Given the description of an element on the screen output the (x, y) to click on. 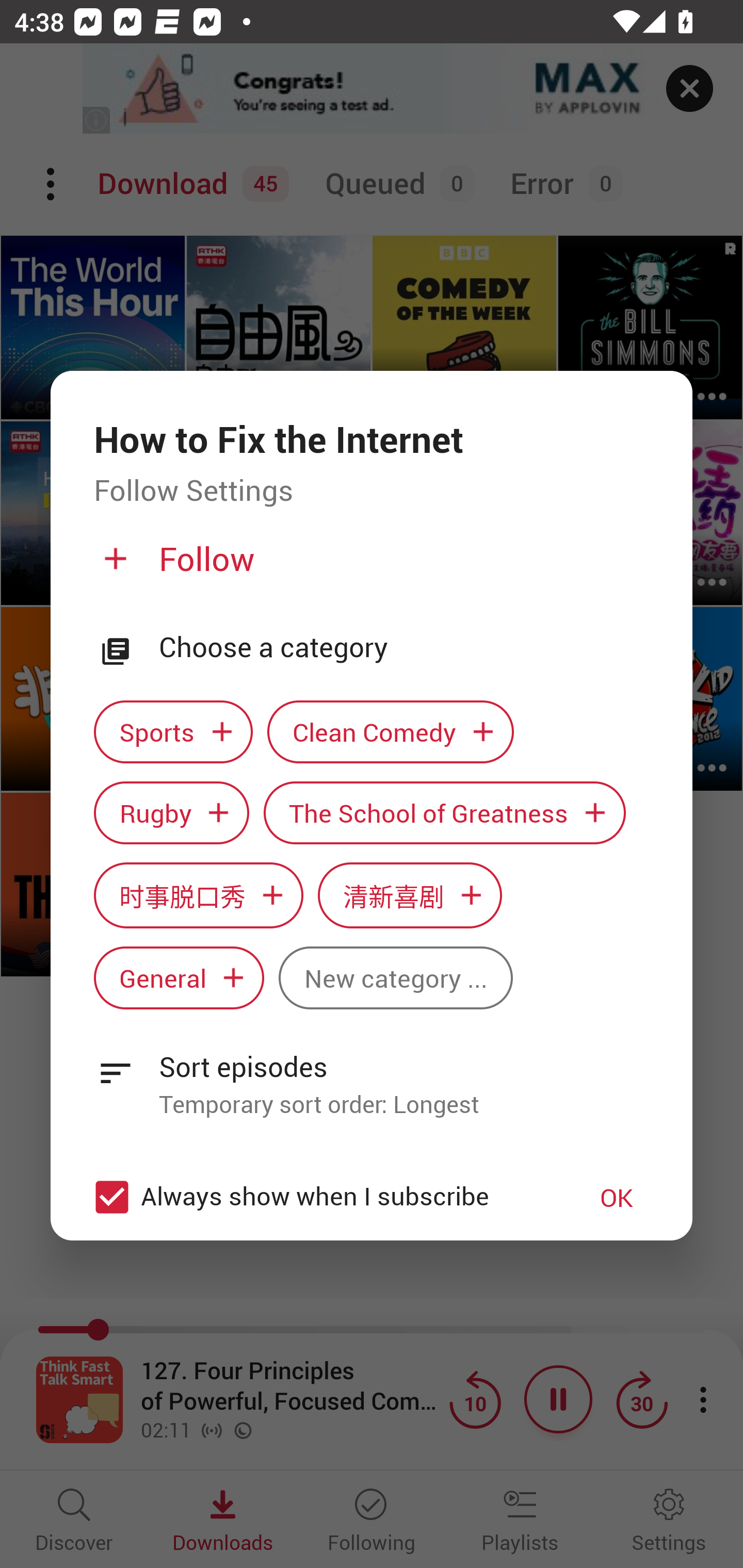
Follow (369, 566)
Choose a category (404, 647)
Sports (172, 731)
Clean Comedy (390, 731)
Rugby (170, 811)
The School of Greatness (444, 811)
时事脱口秀 (198, 895)
清新喜剧 (410, 895)
General (178, 978)
New category ... (395, 978)
Sort episodes Temporary sort order: Longest (371, 1073)
OK (616, 1197)
Always show when I subscribe (320, 1197)
